Given the description of an element on the screen output the (x, y) to click on. 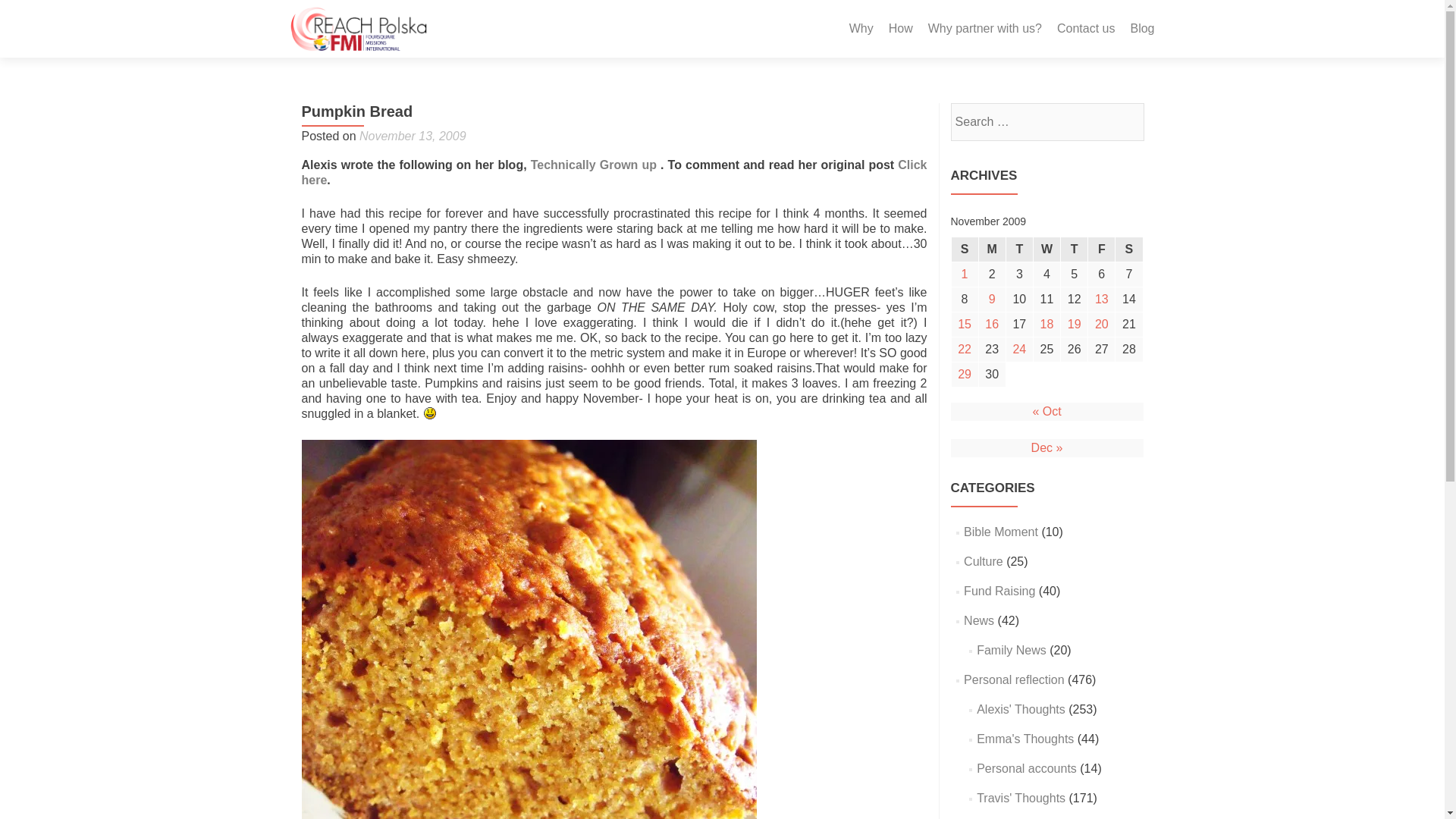
Friday (1101, 249)
16 (992, 324)
1 (963, 274)
Click here (614, 172)
Sunday (963, 249)
20 (1101, 324)
Search (1125, 120)
Search (1125, 120)
Saturday (1128, 249)
Why (860, 28)
Wednesday (1046, 249)
15 (963, 324)
Search (1125, 120)
Tuesday (1019, 249)
Why partner with us? (985, 28)
